Given the description of an element on the screen output the (x, y) to click on. 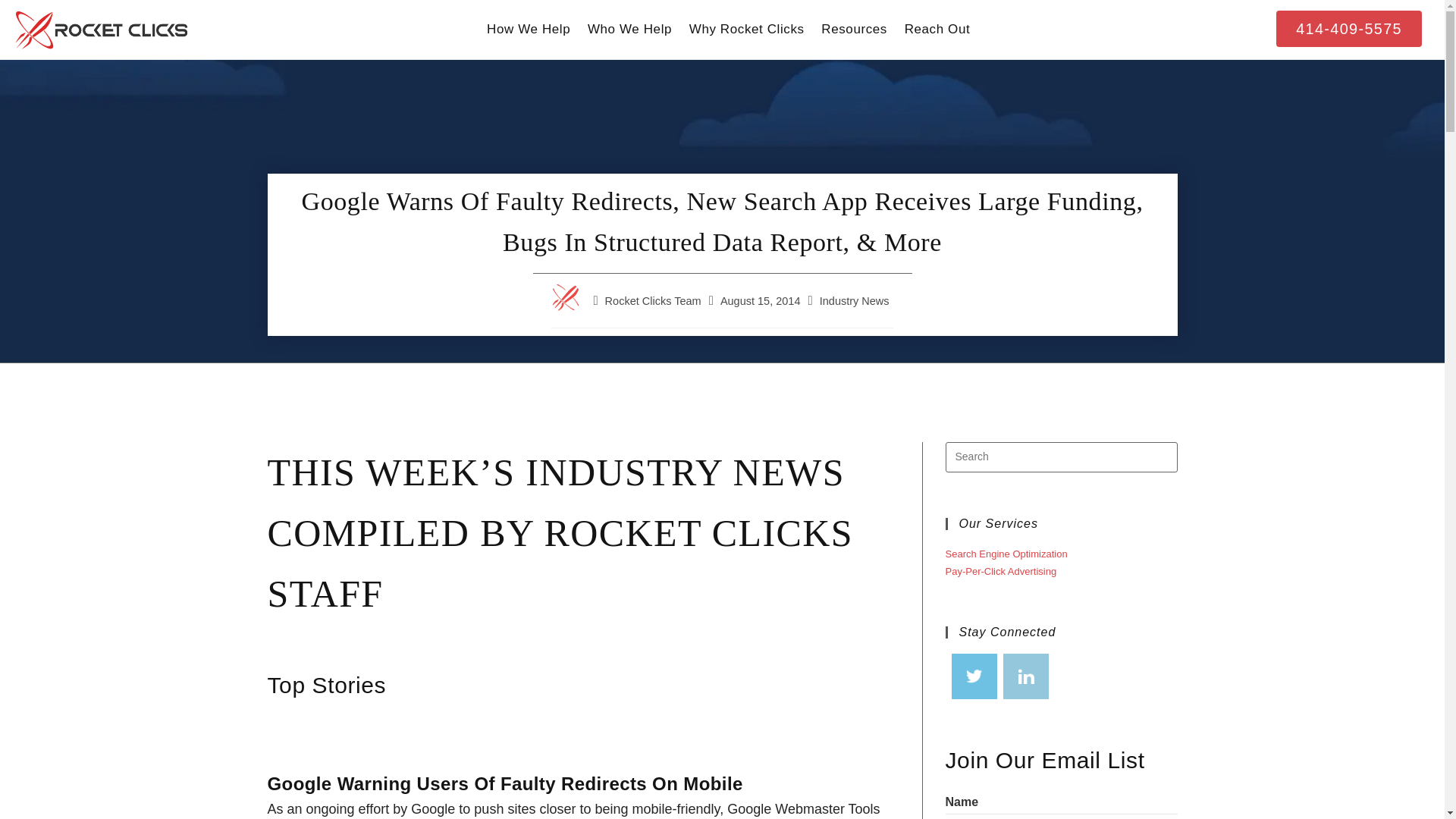
How We Help (529, 29)
414-409-5575 (1349, 28)
Resources (853, 29)
Why Rocket Clicks (745, 29)
Posts by Rocket Clicks Team (653, 300)
Reach Out (936, 29)
Who We Help (630, 29)
